Given the description of an element on the screen output the (x, y) to click on. 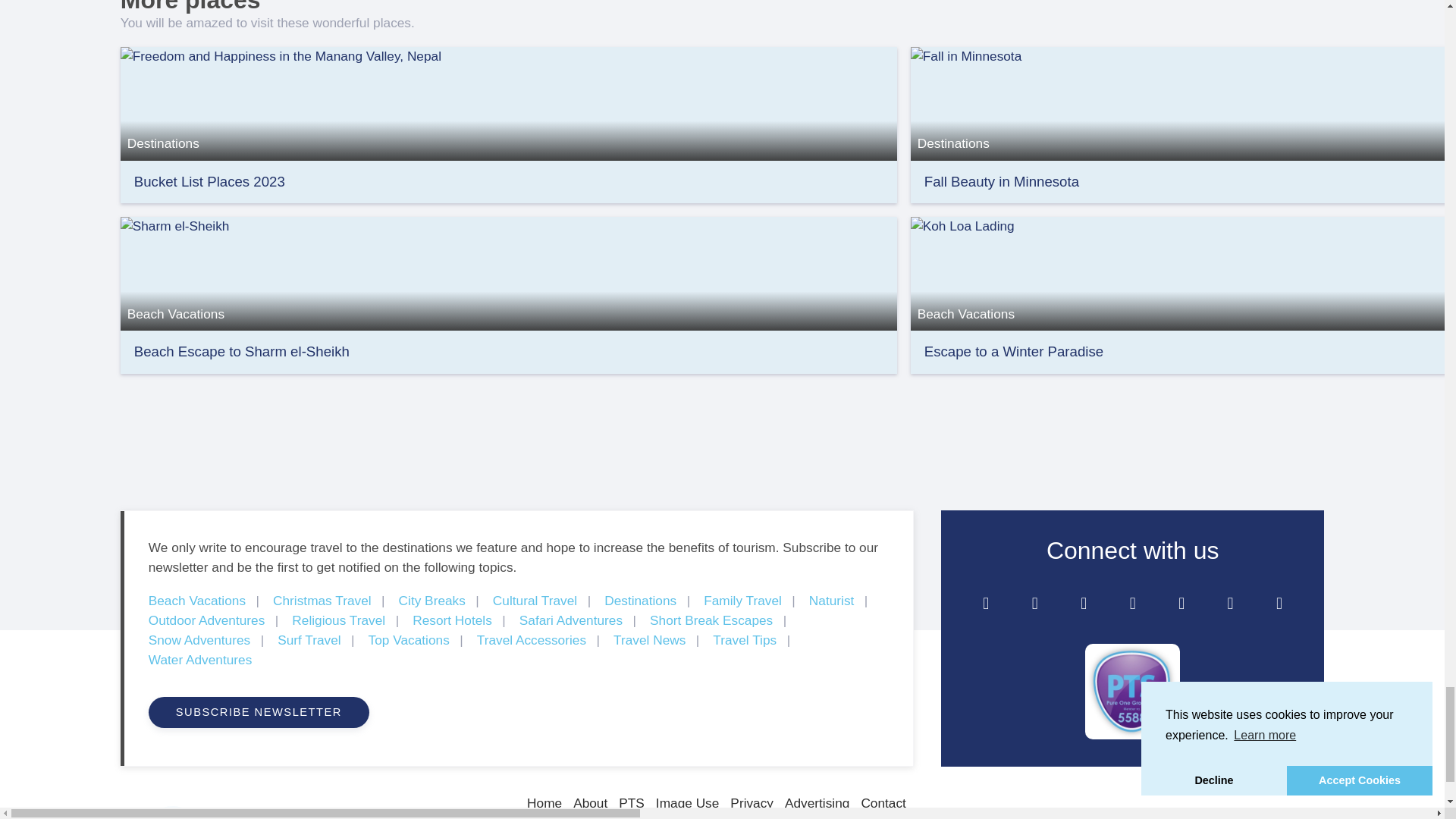
Escape to a Winter Paradise (1013, 351)
Fall Beauty in Minnesota (1001, 181)
Bucket List Places 2023 (209, 181)
Beach Escape to Sharm el-Sheikh (241, 351)
Beach Escape to Sharm el-Sheikh (241, 351)
Bucket List Places 2023 (508, 102)
Fall Beauty in Minnesota (1001, 181)
Escape to a Winter Paradise (1183, 272)
Beach Escape to Sharm el-Sheikh (508, 272)
Escape to a Winter Paradise (1013, 351)
